Given the description of an element on the screen output the (x, y) to click on. 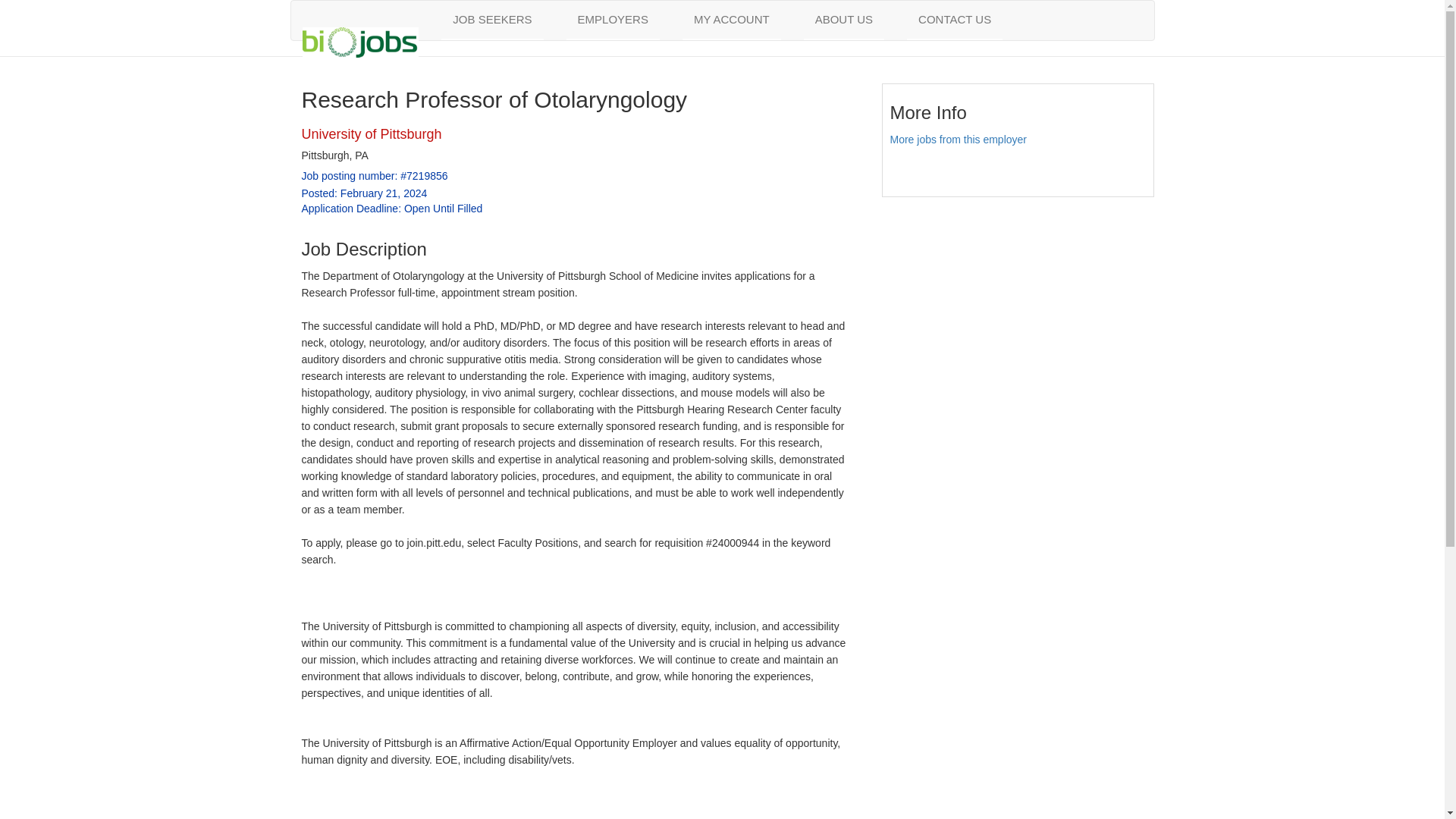
EMPLOYERS (612, 20)
JOB SEEKERS (492, 20)
University of Pittsburgh (371, 133)
ABOUT US (843, 20)
CONTACT US (955, 20)
MY ACCOUNT (731, 20)
More jobs from this employer (958, 139)
